Given the description of an element on the screen output the (x, y) to click on. 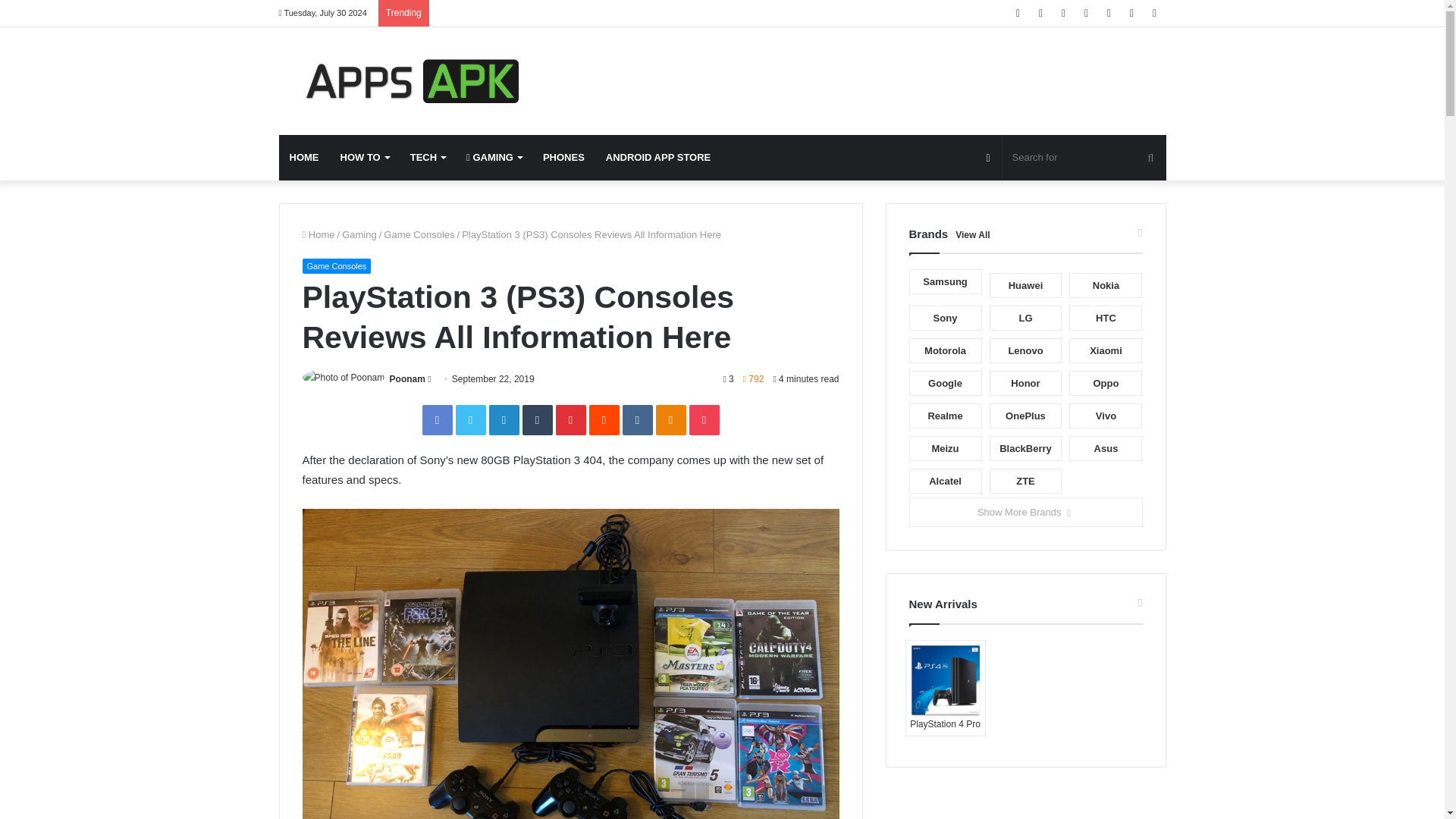
Facebook (436, 419)
PHONES (563, 157)
Home (317, 234)
TECH (426, 157)
Gaming (359, 234)
Search for (1084, 157)
Advertisement (873, 76)
GAMING (493, 157)
ANDROID APP STORE (657, 157)
Game Consoles (336, 265)
Poonam (407, 378)
Twitter (469, 419)
HOW TO (363, 157)
Poonam (407, 378)
Android Blog AppsApk (419, 80)
